Given the description of an element on the screen output the (x, y) to click on. 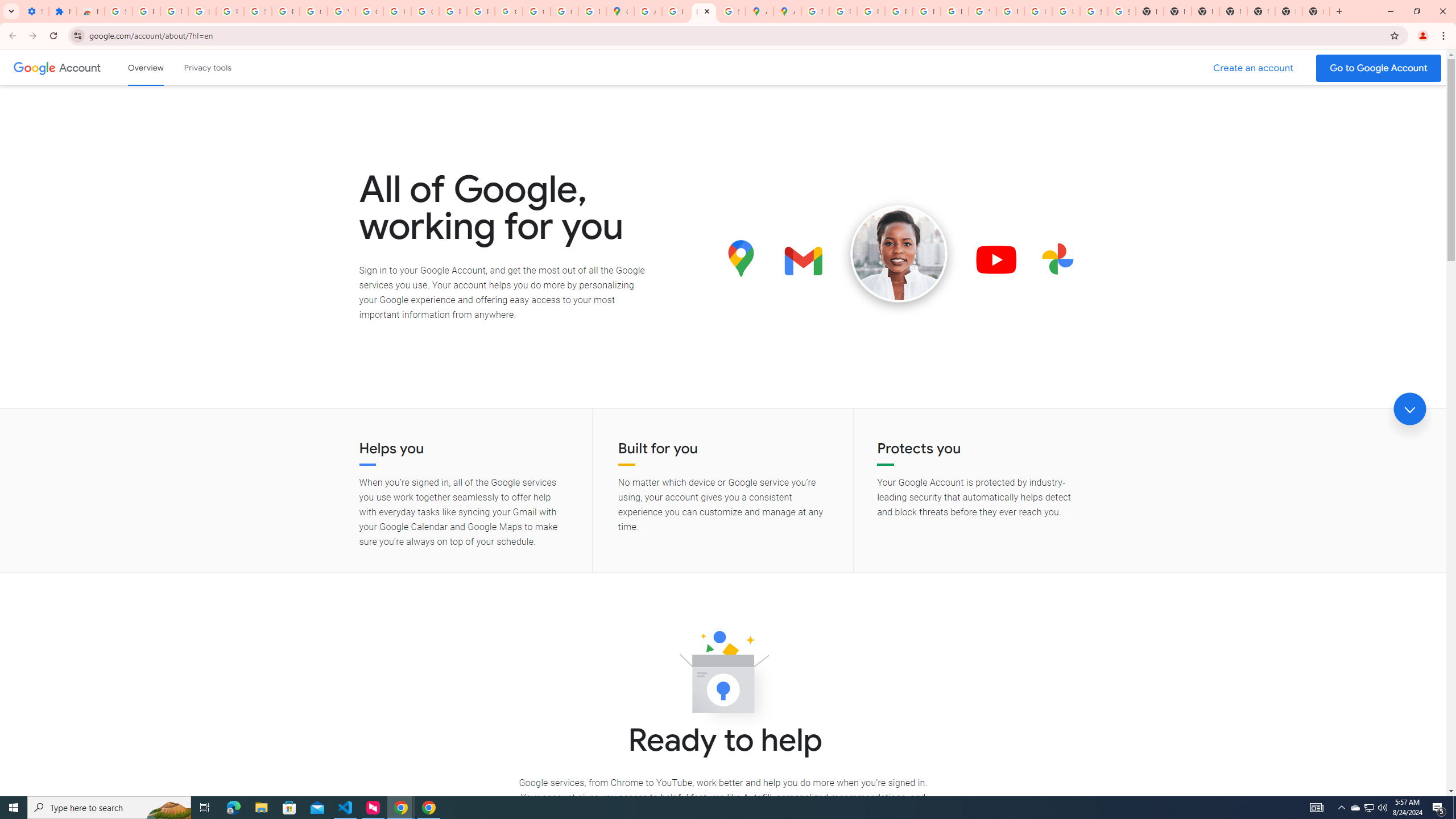
Privacy Help Center - Policies Help (870, 11)
Google Account overview (145, 67)
Google Account (313, 11)
Go to your Google Account (1378, 67)
Sign in - Google Accounts (815, 11)
